Given the description of an element on the screen output the (x, y) to click on. 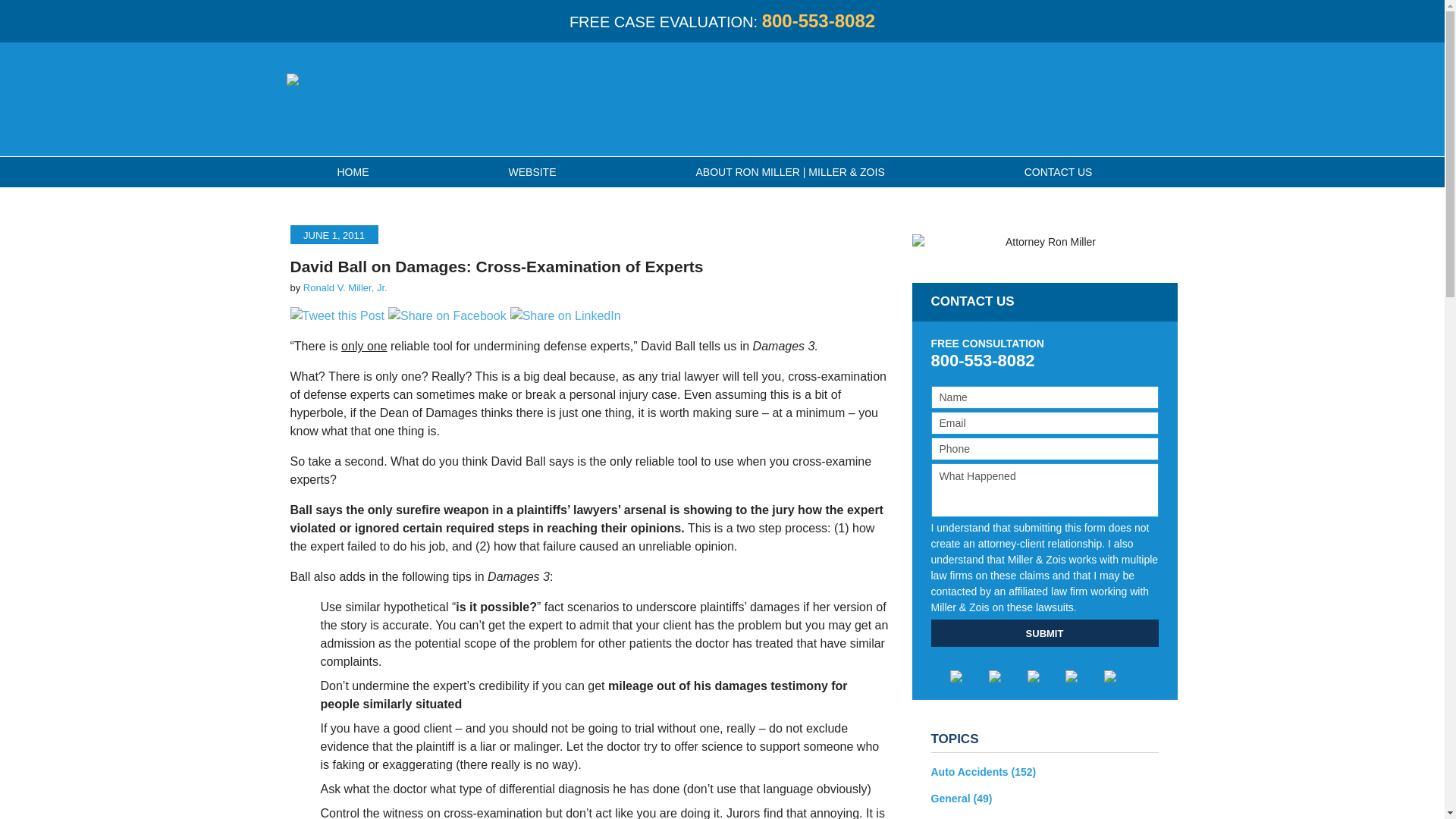
Facebook (967, 676)
Please enter a valid phone number. (1044, 448)
LinkedIn (1044, 676)
Twitter (1005, 676)
Feed (1120, 676)
CONTACT US (1058, 172)
Ronald V. Miller, Jr. (344, 287)
SUBMIT (1044, 633)
Justia (1082, 676)
WEBSITE (532, 172)
